Given the description of an element on the screen output the (x, y) to click on. 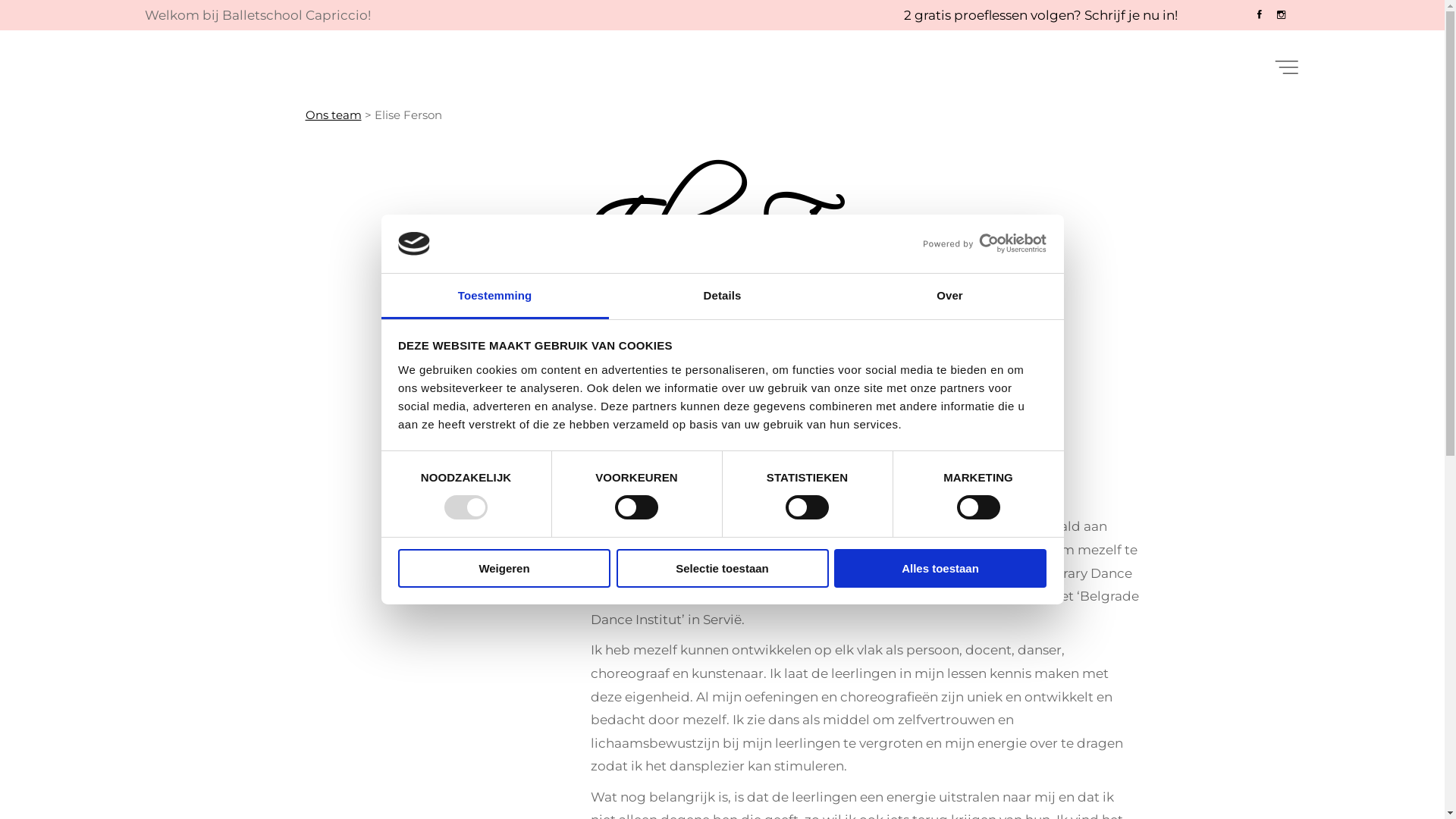
Selectie toestaan Element type: text (721, 568)
Moderne dans Element type: text (654, 423)
Klassiek ballet Element type: text (653, 377)
Ons team Element type: text (332, 114)
Details Element type: text (721, 296)
Weigeren Element type: text (504, 568)
Alles toestaan Element type: text (940, 568)
2 gratis proeflessen volgen? Schrijf je nu in! Element type: text (1040, 14)
Jazzballet Element type: text (640, 400)
Toestemming Element type: text (494, 296)
Over Element type: text (949, 296)
